Given the description of an element on the screen output the (x, y) to click on. 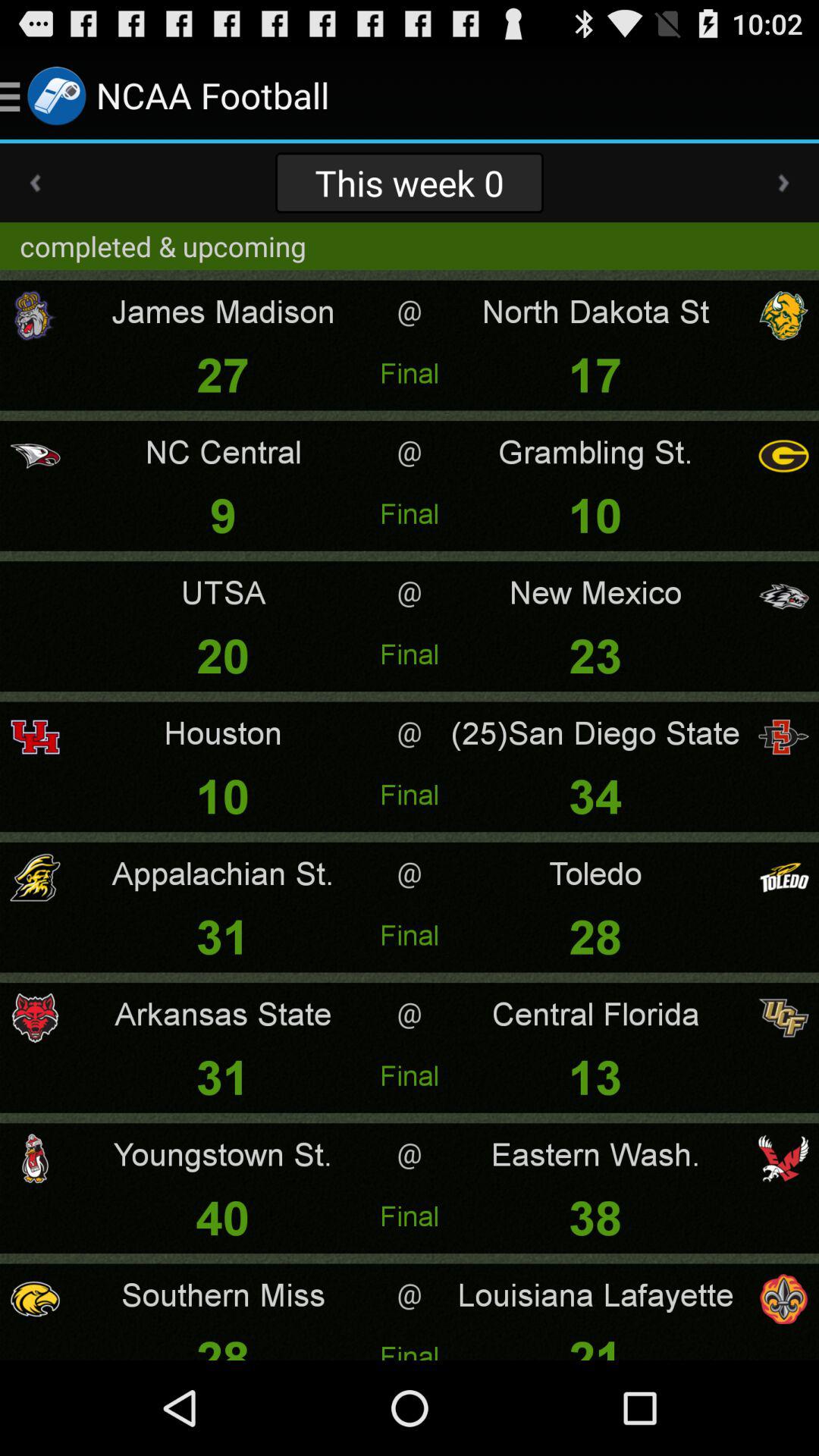
open the icon to the right of this week 0 item (783, 182)
